Given the description of an element on the screen output the (x, y) to click on. 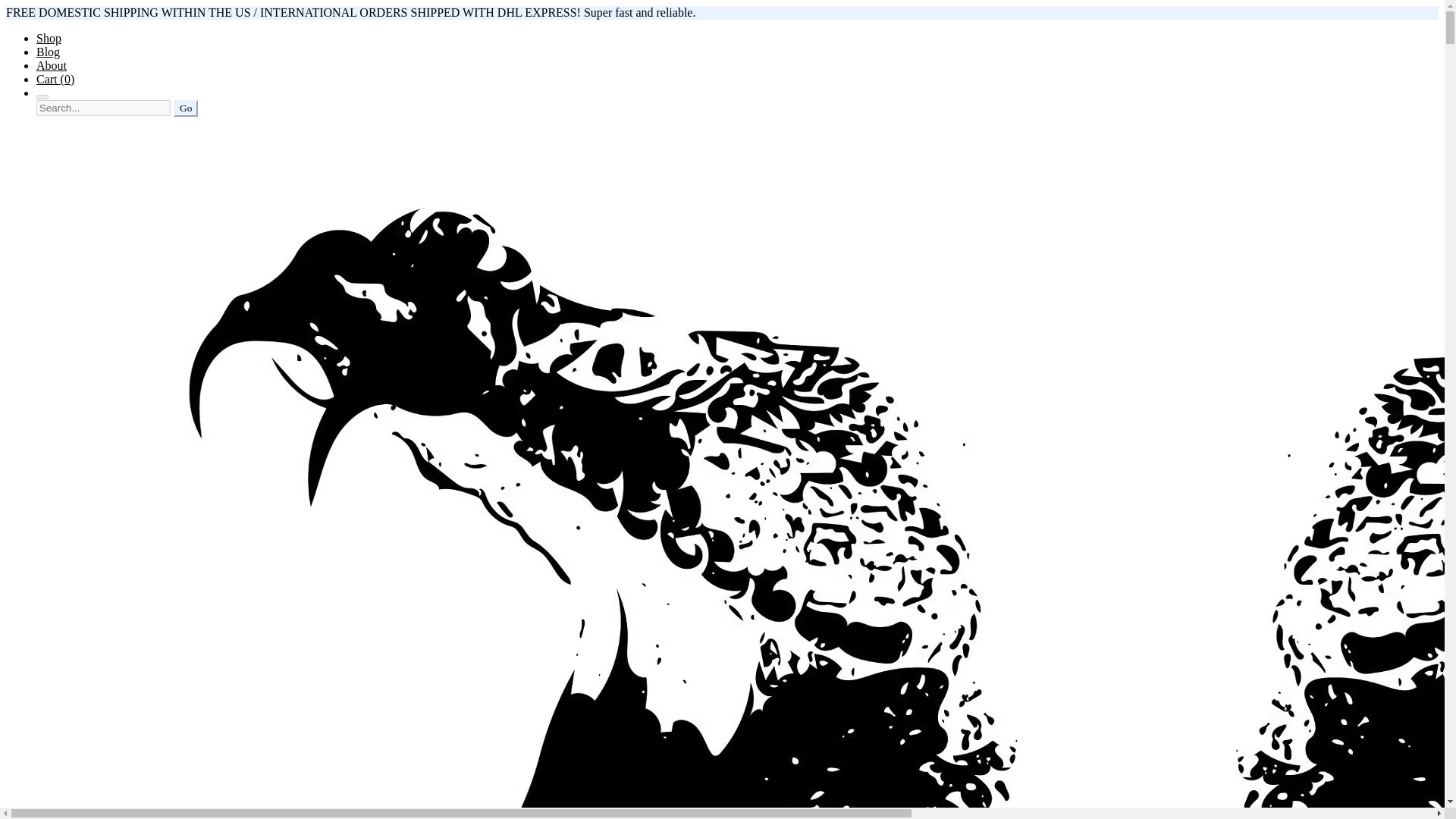
Go (185, 108)
Blog (47, 51)
Go (185, 108)
About (51, 65)
Shop (48, 38)
